Given the description of an element on the screen output the (x, y) to click on. 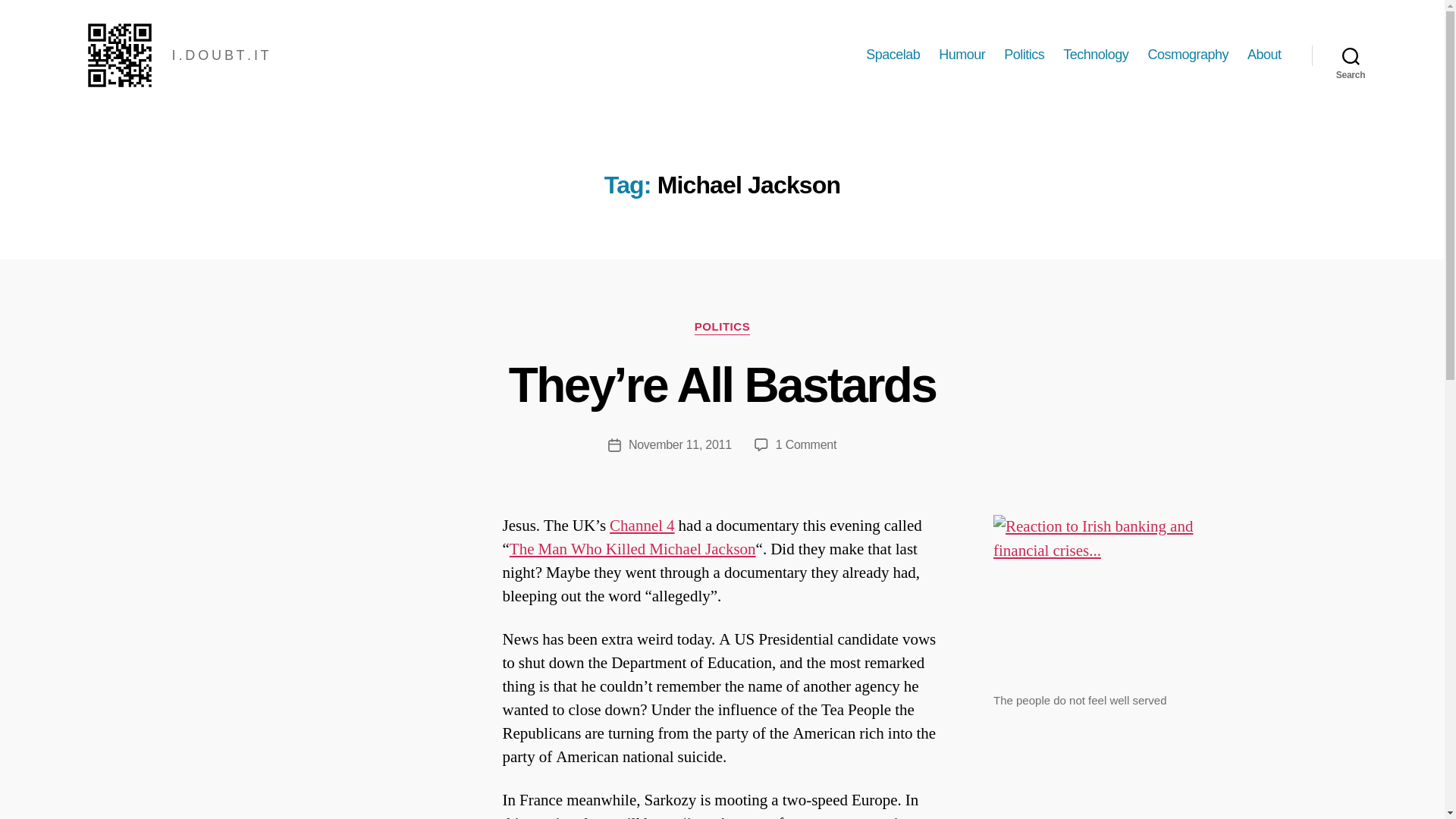
Spacelab (893, 54)
Reaction to Irish banking and financial crises... (1102, 597)
Technology (1095, 54)
Channel 4 (642, 525)
Search (1350, 55)
About (1264, 54)
Cosmography (1187, 54)
Humour (962, 54)
Politics (1023, 54)
Channel 4 (642, 525)
Radio Times (632, 548)
POLITICS (722, 327)
November 11, 2011 (680, 444)
The Man Who Killed Michael Jackson (632, 548)
